Given the description of an element on the screen output the (x, y) to click on. 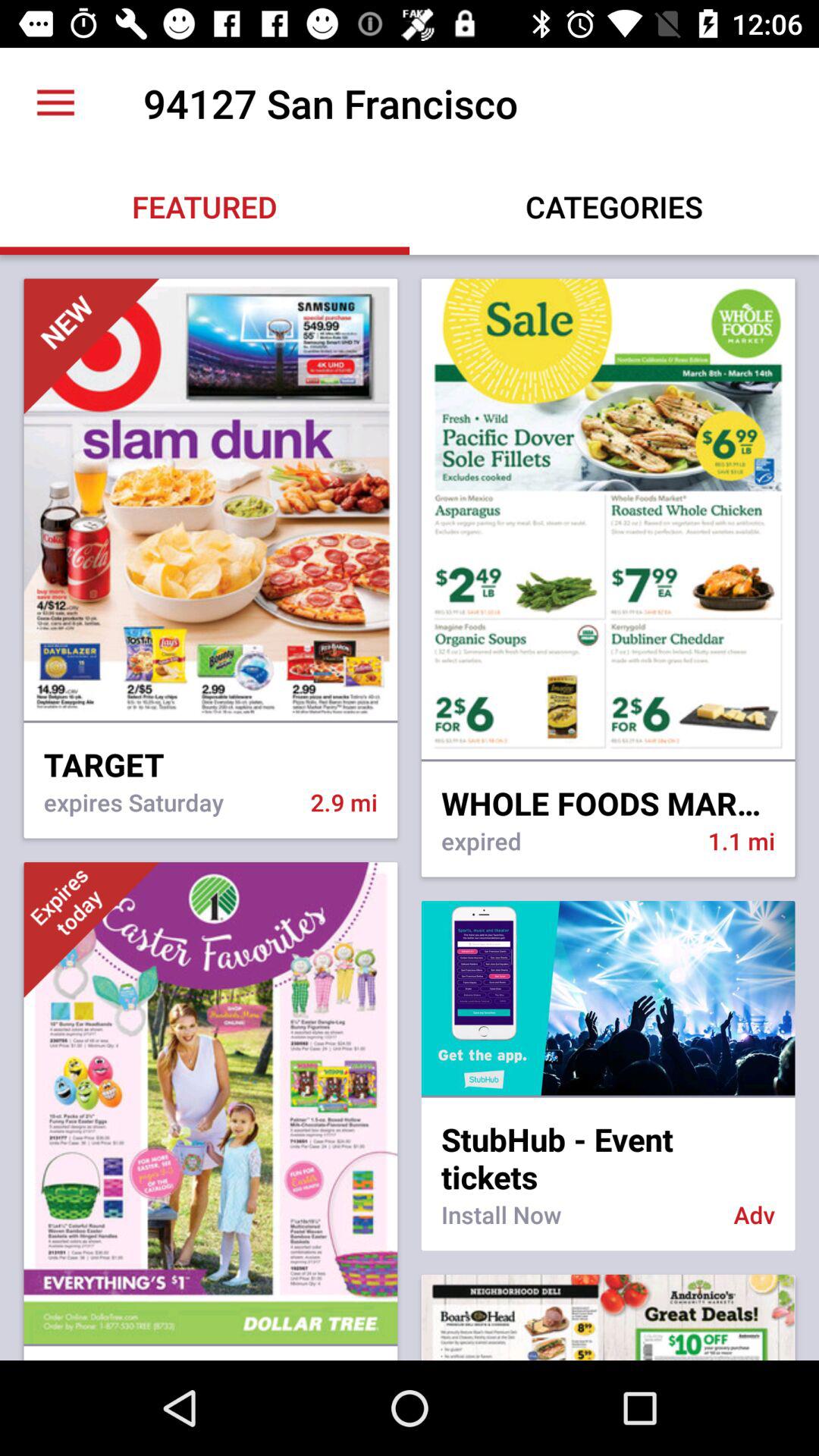
swipe until the install now (577, 1224)
